Given the description of an element on the screen output the (x, y) to click on. 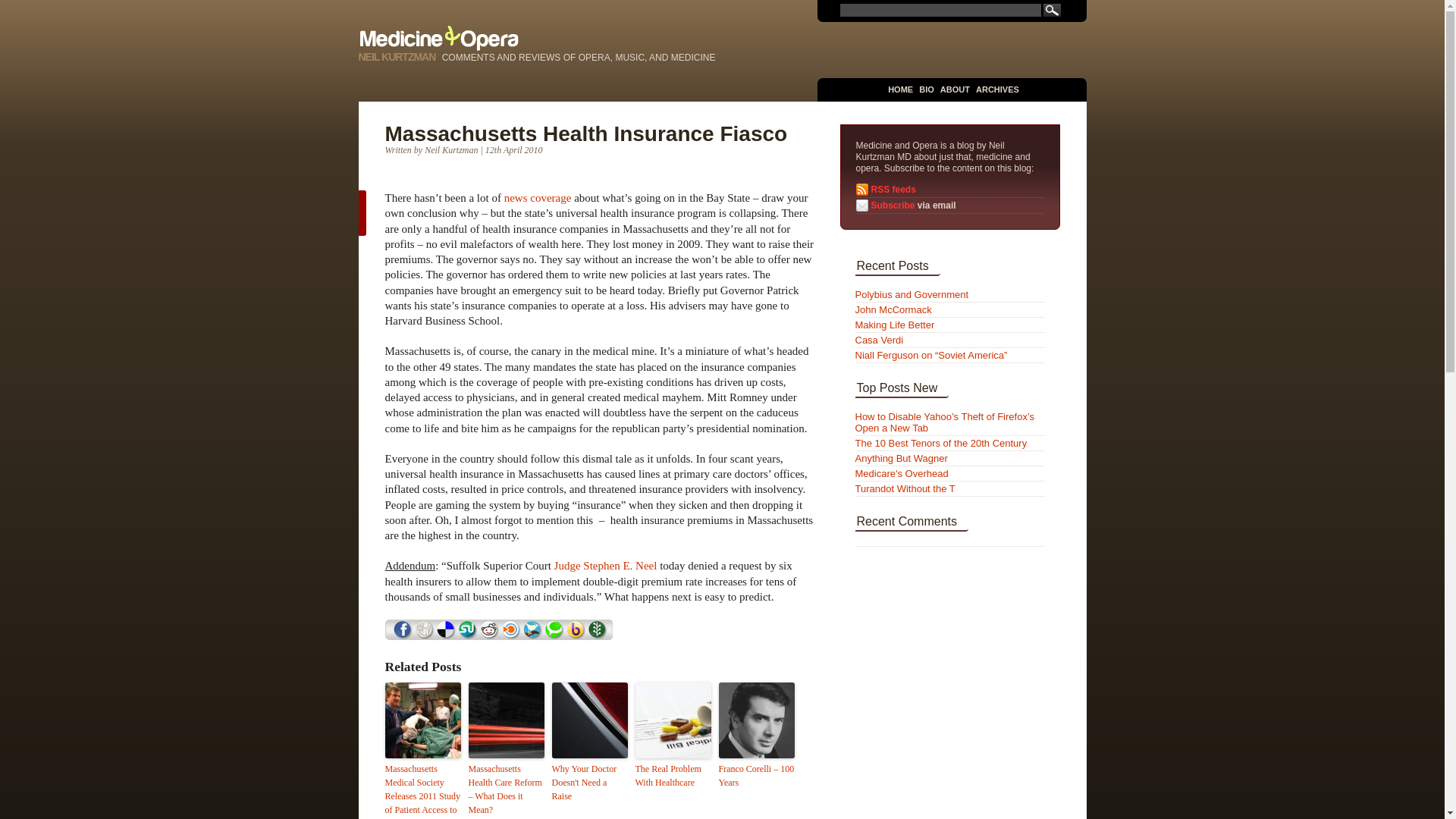
Permalink to Polybius and Government (912, 294)
Add to Yahoo Buzz (575, 635)
The Real Problem With Healthcare (672, 775)
Permalink to Making Life Better (895, 324)
news coverage (537, 197)
Add to Newsvine (597, 635)
Add to Facebook (402, 635)
ABOUT (954, 89)
Permalink to John McCormack (893, 309)
Judge Stephen E. Neel (606, 565)
HOME (900, 89)
Add to Blinklist (511, 635)
Search (1052, 10)
Search (1052, 10)
